Given the description of an element on the screen output the (x, y) to click on. 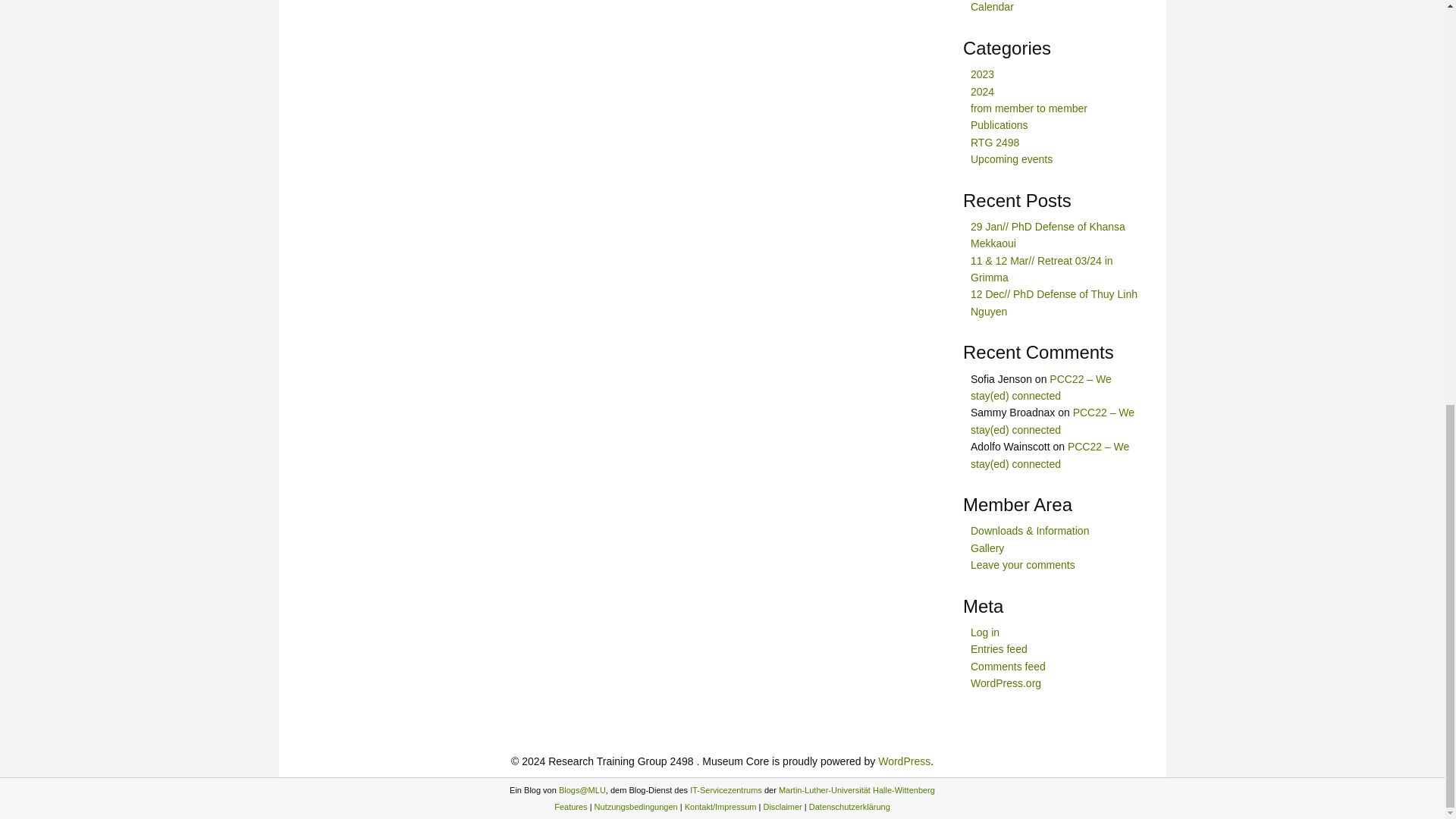
2023 (982, 73)
RTG 2498 (995, 142)
2024 (982, 91)
Upcoming events (1011, 159)
from member to member (1029, 108)
Publications (999, 124)
Calendar (992, 6)
